Given the description of an element on the screen output the (x, y) to click on. 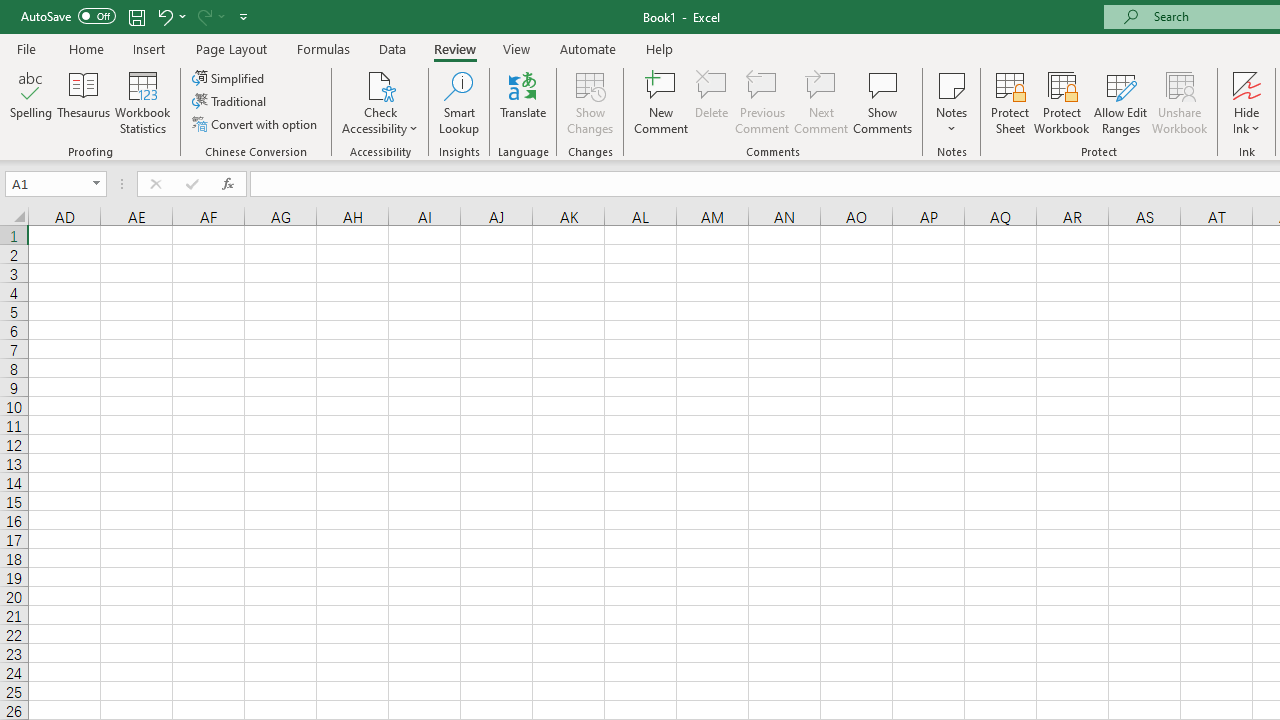
Simplified (230, 78)
Notes (951, 102)
Convert with option (256, 124)
